Given the description of an element on the screen output the (x, y) to click on. 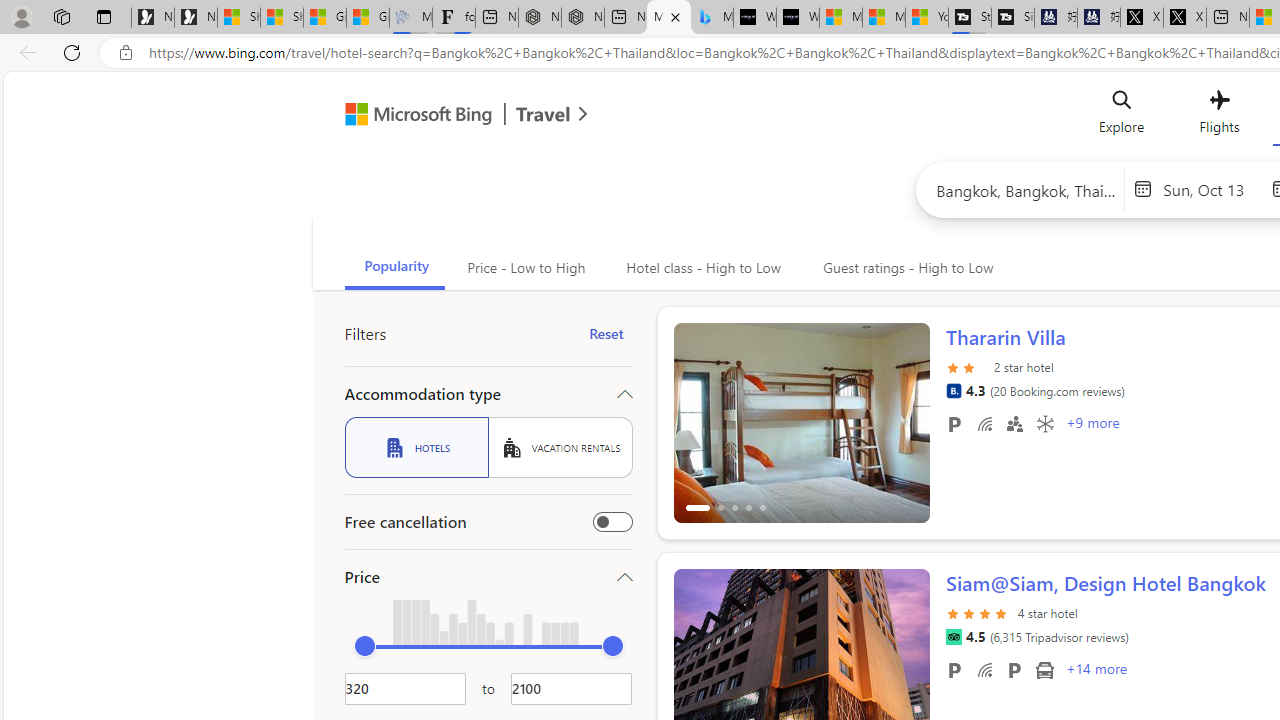
Valet parking (1014, 669)
max  (612, 645)
AutomationID: TextField872 (405, 688)
Explore (1121, 116)
Free parking (953, 669)
Free cancellation (612, 521)
Price - Low to High (524, 268)
Accommodation type (488, 393)
